Given the description of an element on the screen output the (x, y) to click on. 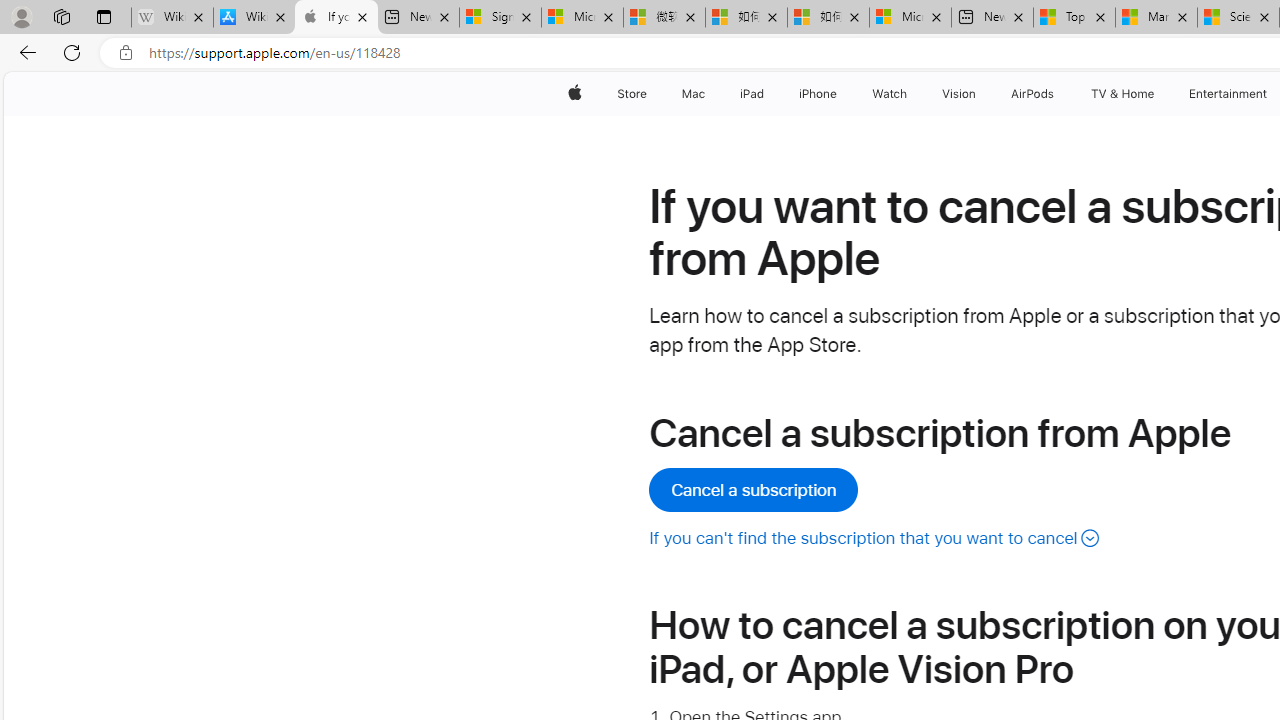
TV and Home (1122, 93)
Mac (692, 93)
AirPods menu (1058, 93)
Apple (574, 93)
iPad (750, 93)
TV & Home (1122, 93)
Vision (959, 93)
iPad (750, 93)
TV and Home menu (1157, 93)
